Given the description of an element on the screen output the (x, y) to click on. 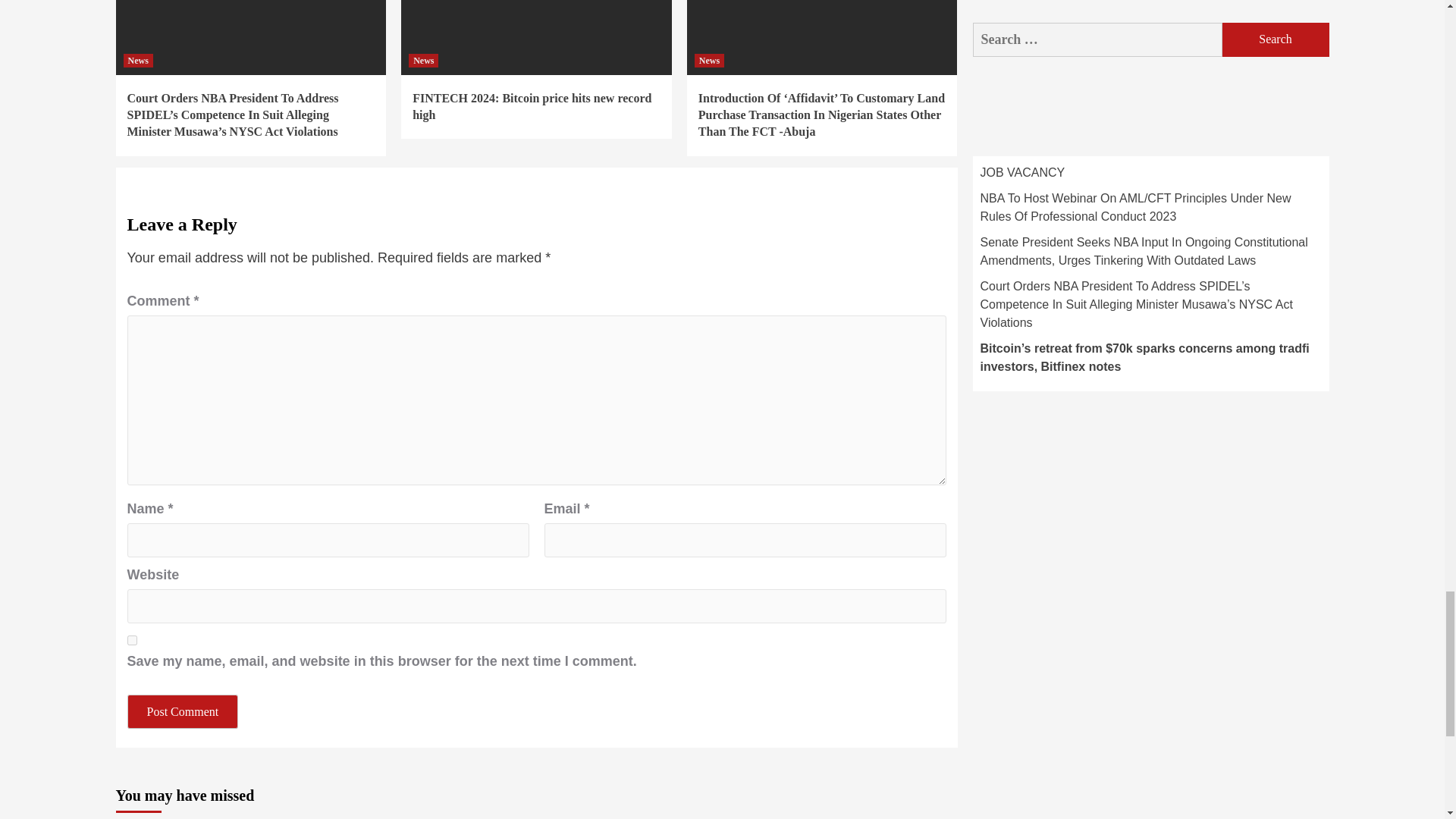
yes (132, 640)
Post Comment (183, 711)
